Given the description of an element on the screen output the (x, y) to click on. 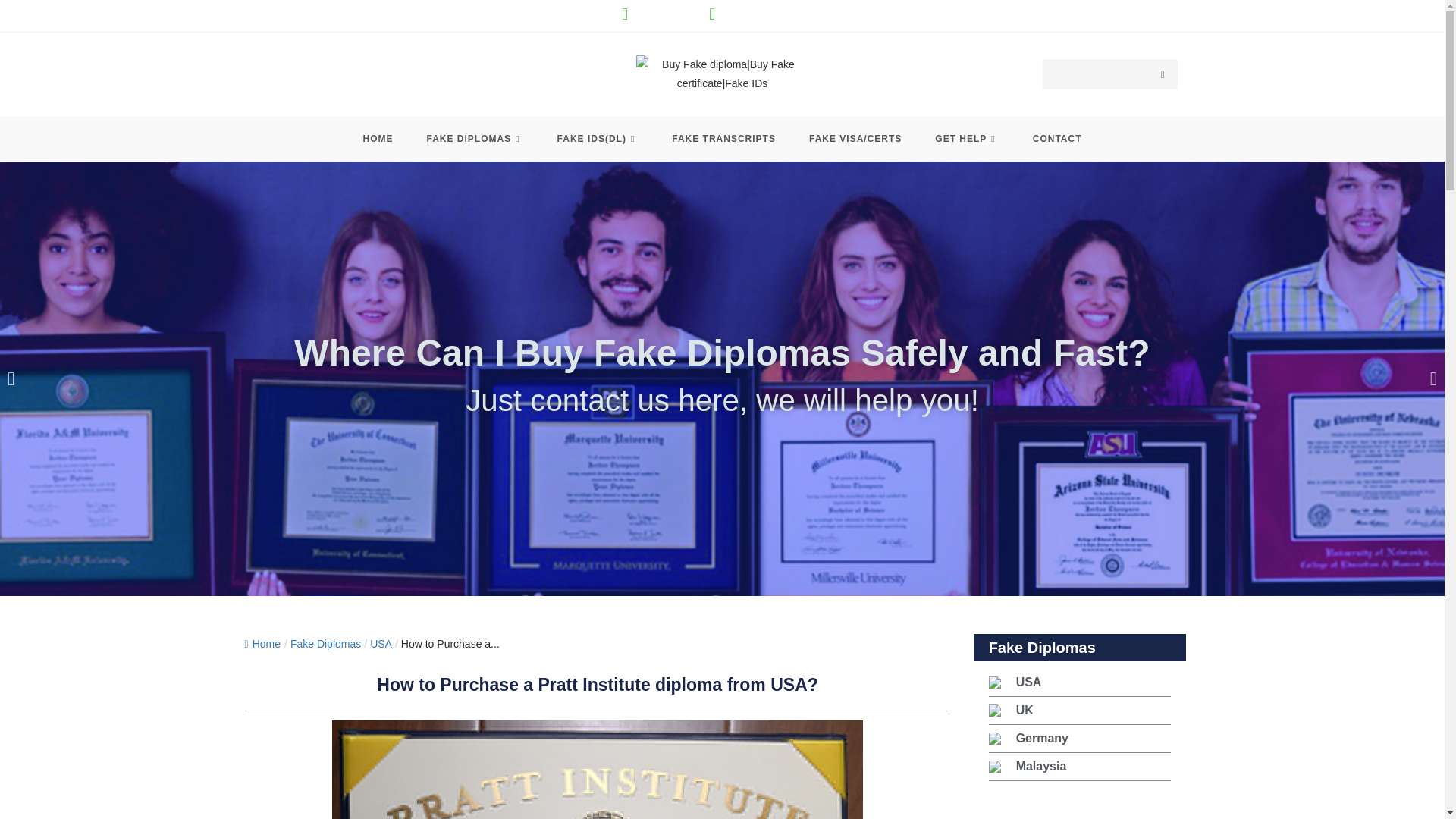
FAKE TRANSCRIPTS (723, 138)
USA (380, 644)
CONTACT (1057, 138)
GET HELP (966, 138)
Category Name (325, 644)
HOME (377, 138)
How to Purchase a Pratt Institute diploma from USA? (450, 644)
FAKE DIPLOMAS (474, 138)
Pratt Institute diploma (597, 769)
